Given the description of an element on the screen output the (x, y) to click on. 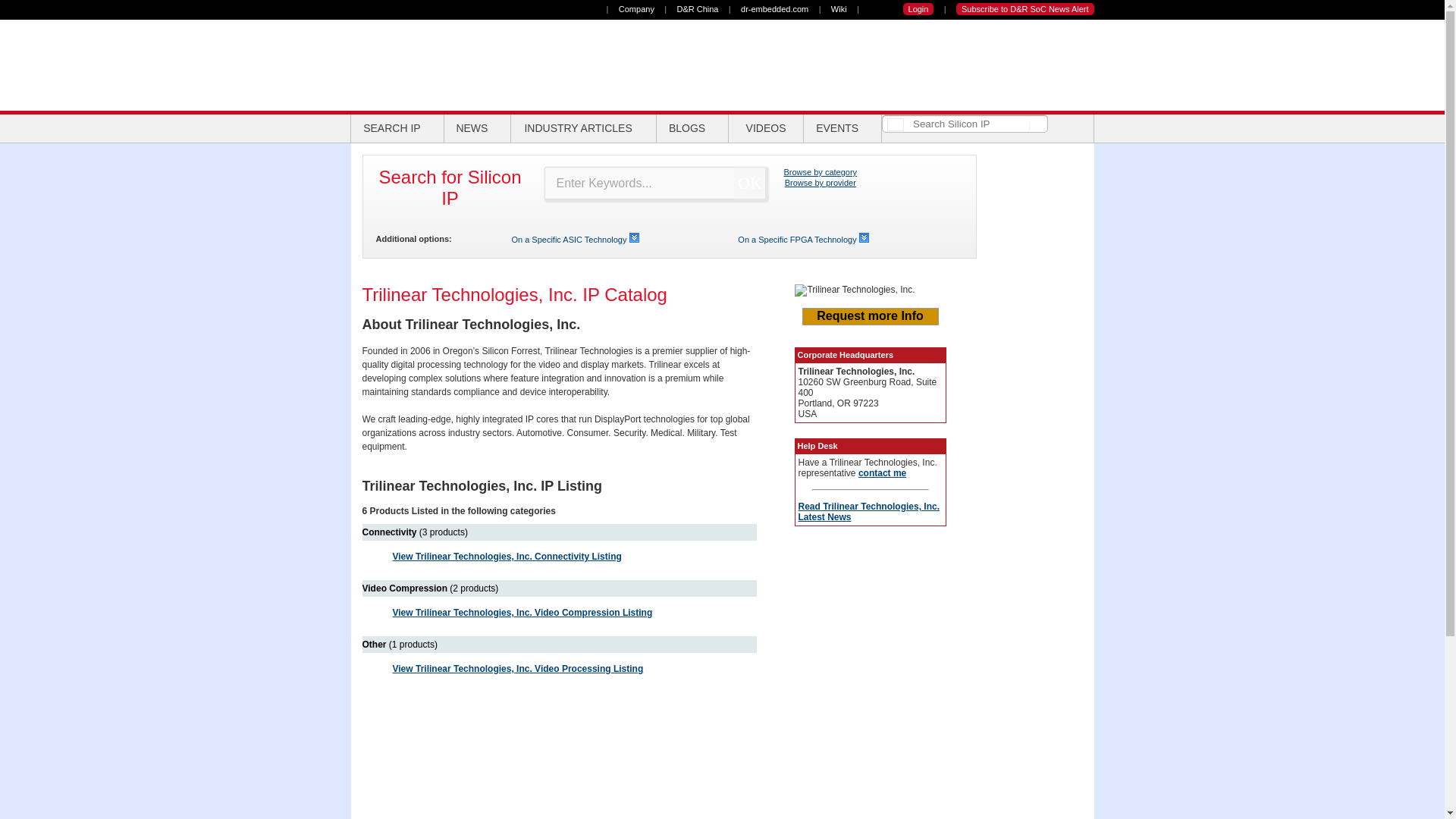
Enter Keywords... (654, 183)
search (1036, 123)
search filter (895, 124)
dr-embedded.com (774, 8)
Wiki (839, 8)
Company (635, 8)
SEARCH IP (397, 128)
Design And Reuse (431, 64)
Login (918, 9)
OK (750, 183)
